Given the description of an element on the screen output the (x, y) to click on. 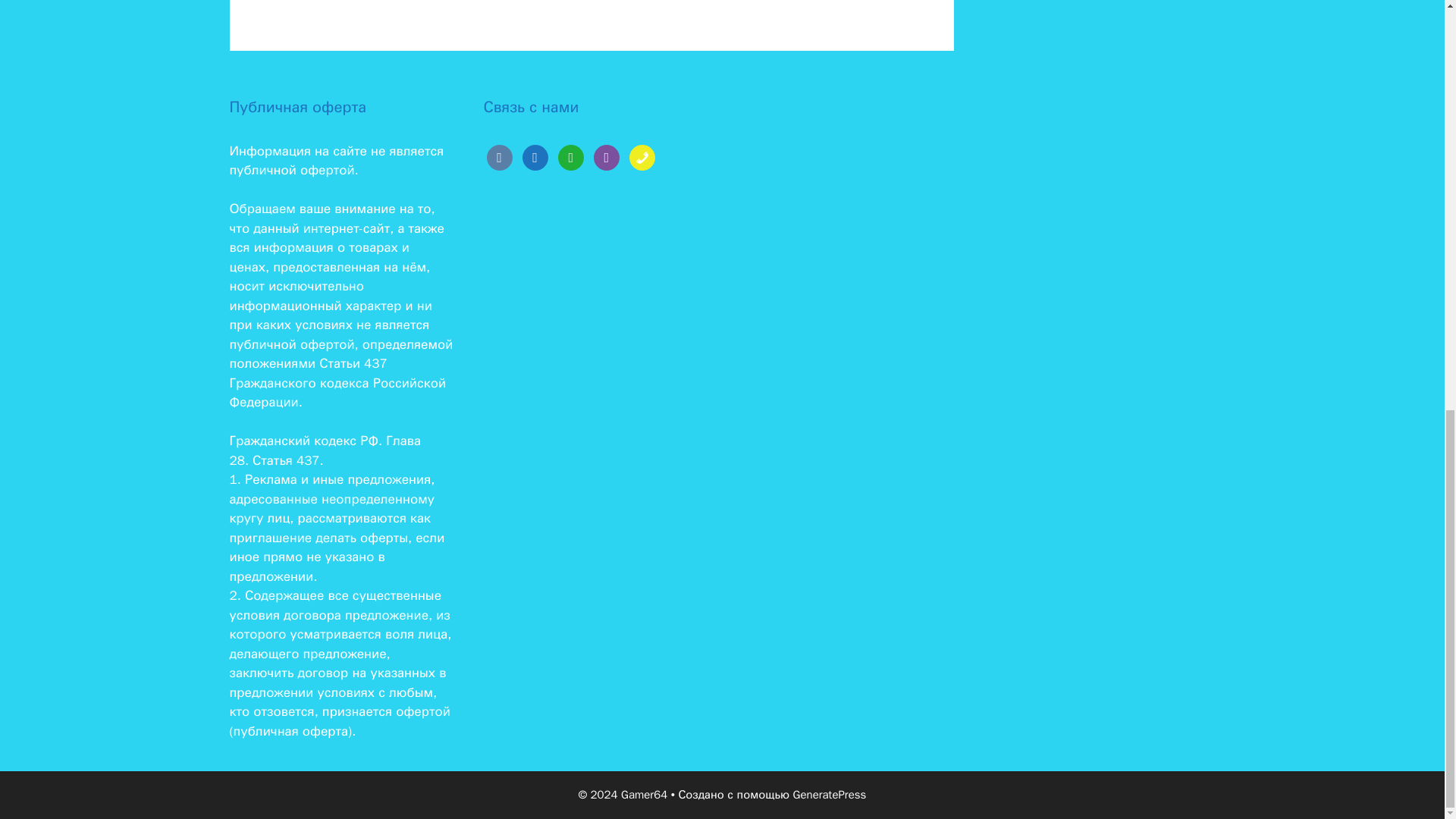
Default Label (641, 156)
vkontakte (499, 156)
Default Label (499, 156)
phone (641, 156)
Default Label (535, 156)
mail (535, 156)
Default Label (570, 156)
whatsapp (570, 156)
viber (607, 156)
Default Label (607, 156)
